Given the description of an element on the screen output the (x, y) to click on. 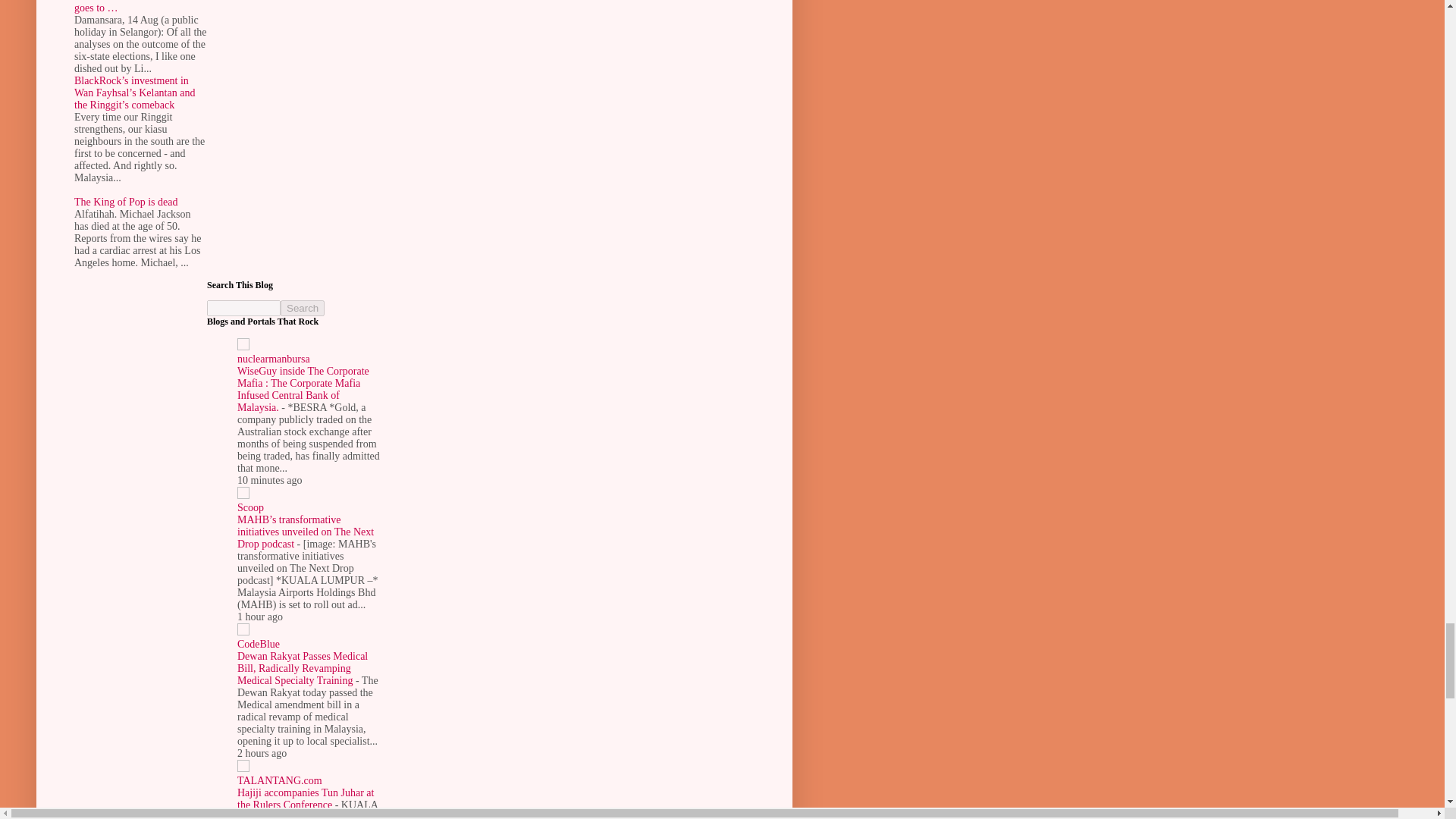
search (302, 308)
Search (302, 308)
Search (302, 308)
search (243, 308)
